Given the description of an element on the screen output the (x, y) to click on. 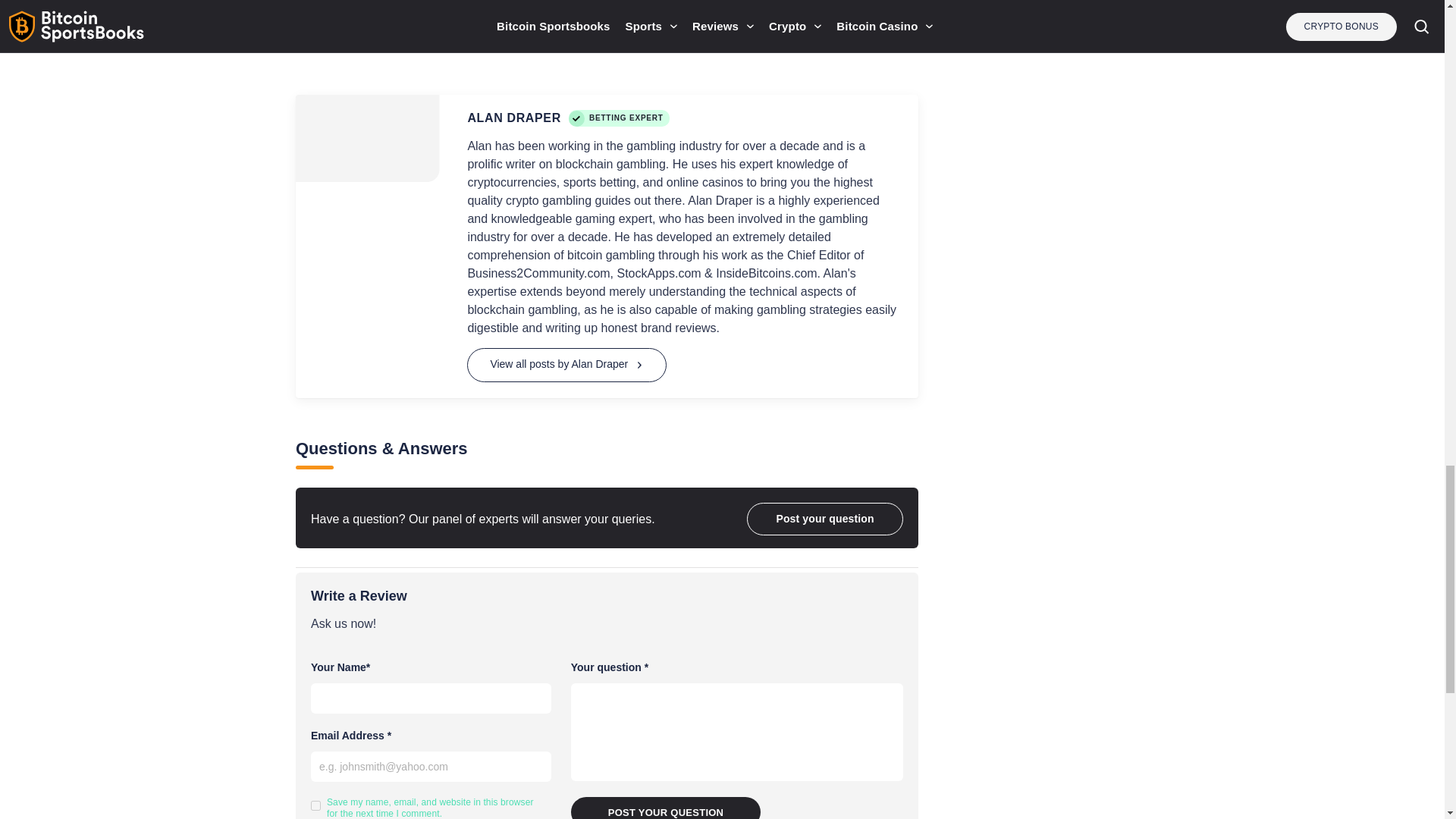
yes (315, 805)
Post your question (665, 807)
